Given the description of an element on the screen output the (x, y) to click on. 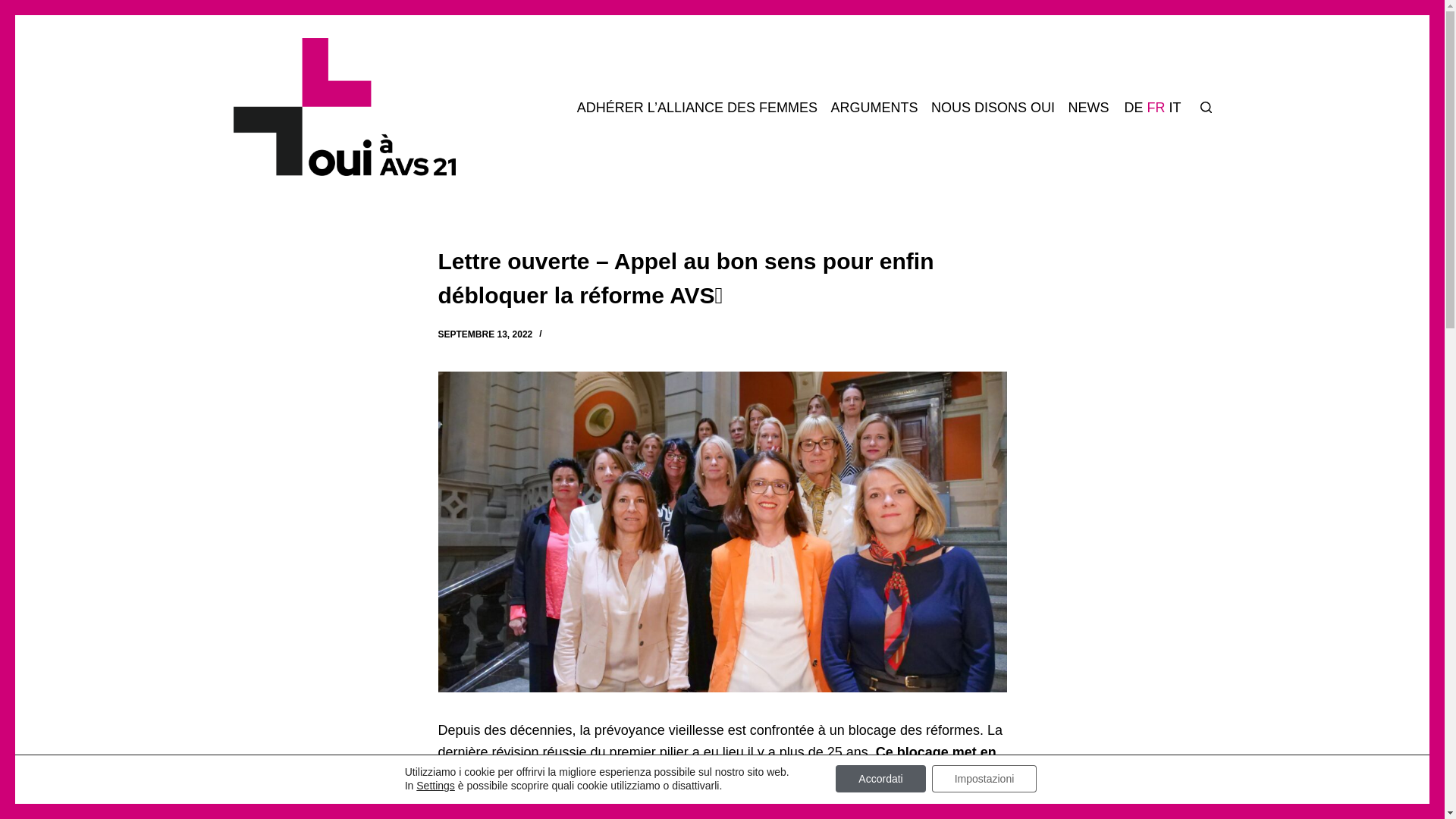
Impostazioni Element type: text (984, 778)
DE Element type: text (1134, 147)
Accordati Element type: text (880, 778)
IT Element type: text (1177, 147)
Passer au contenu Element type: text (15, 7)
FR Element type: text (1157, 147)
